Given the description of an element on the screen output the (x, y) to click on. 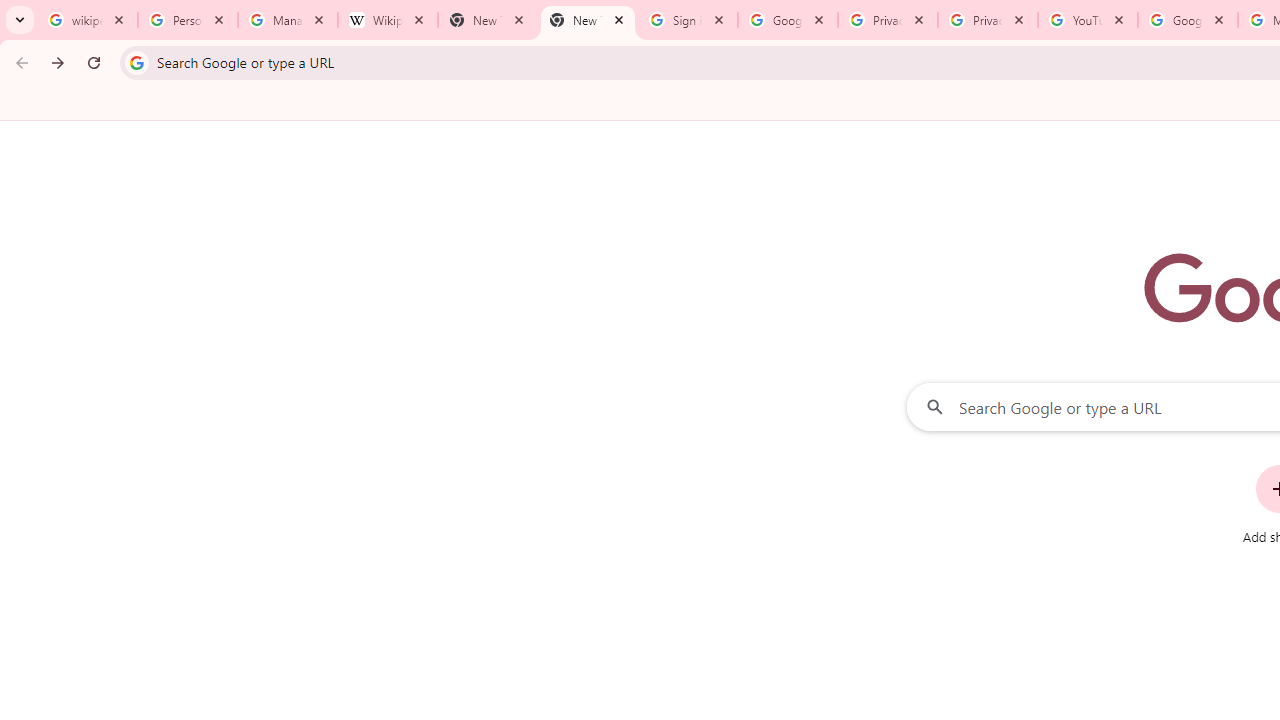
Search icon (136, 62)
Manage your Location History - Google Search Help (287, 20)
Wikipedia:Edit requests - Wikipedia (387, 20)
New Tab (587, 20)
Sign in - Google Accounts (687, 20)
YouTube (1087, 20)
Google Account Help (1187, 20)
New Tab (487, 20)
